Given the description of an element on the screen output the (x, y) to click on. 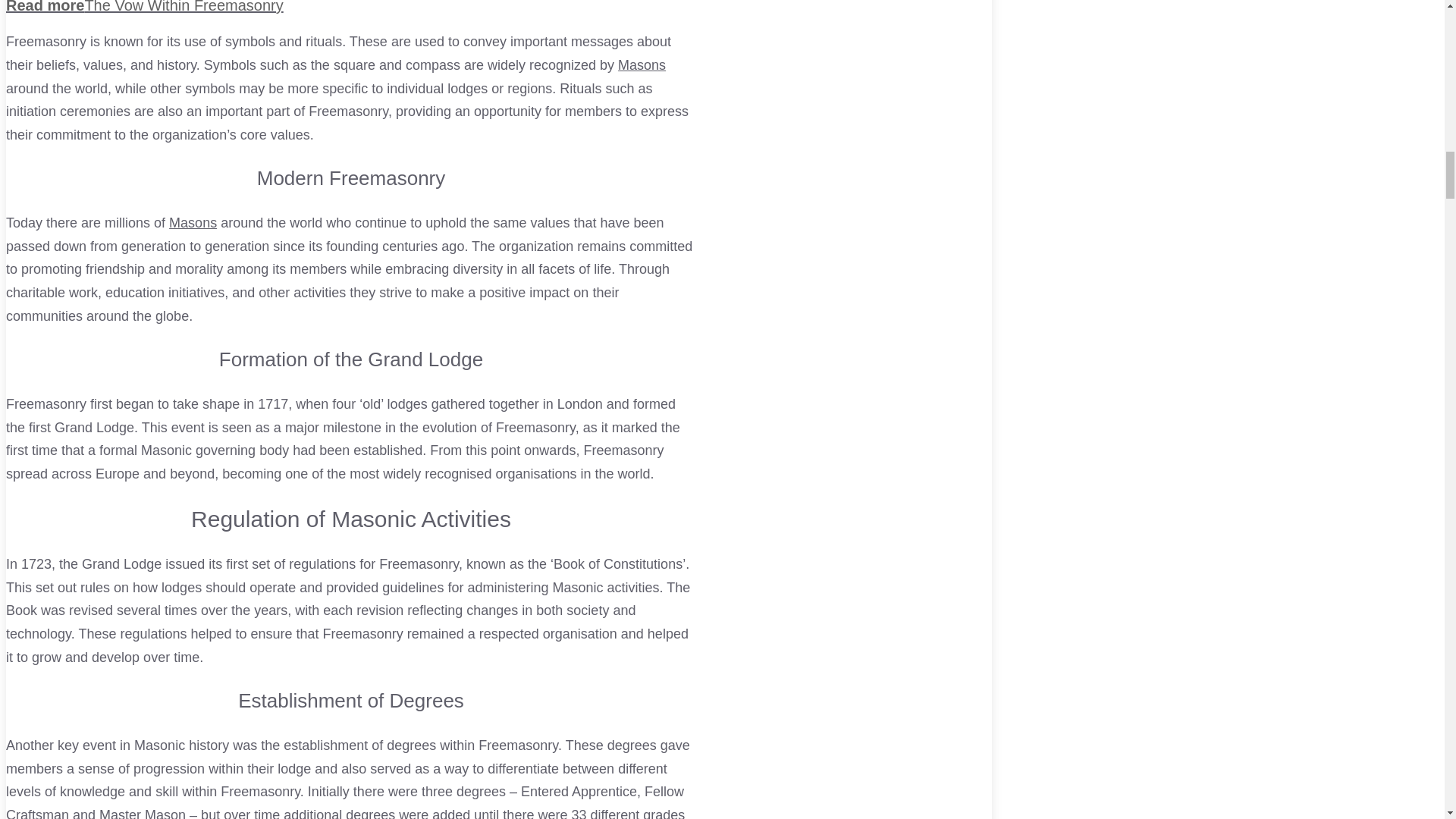
Read moreThe Vow Within Freemasonry (350, 8)
